Given the description of an element on the screen output the (x, y) to click on. 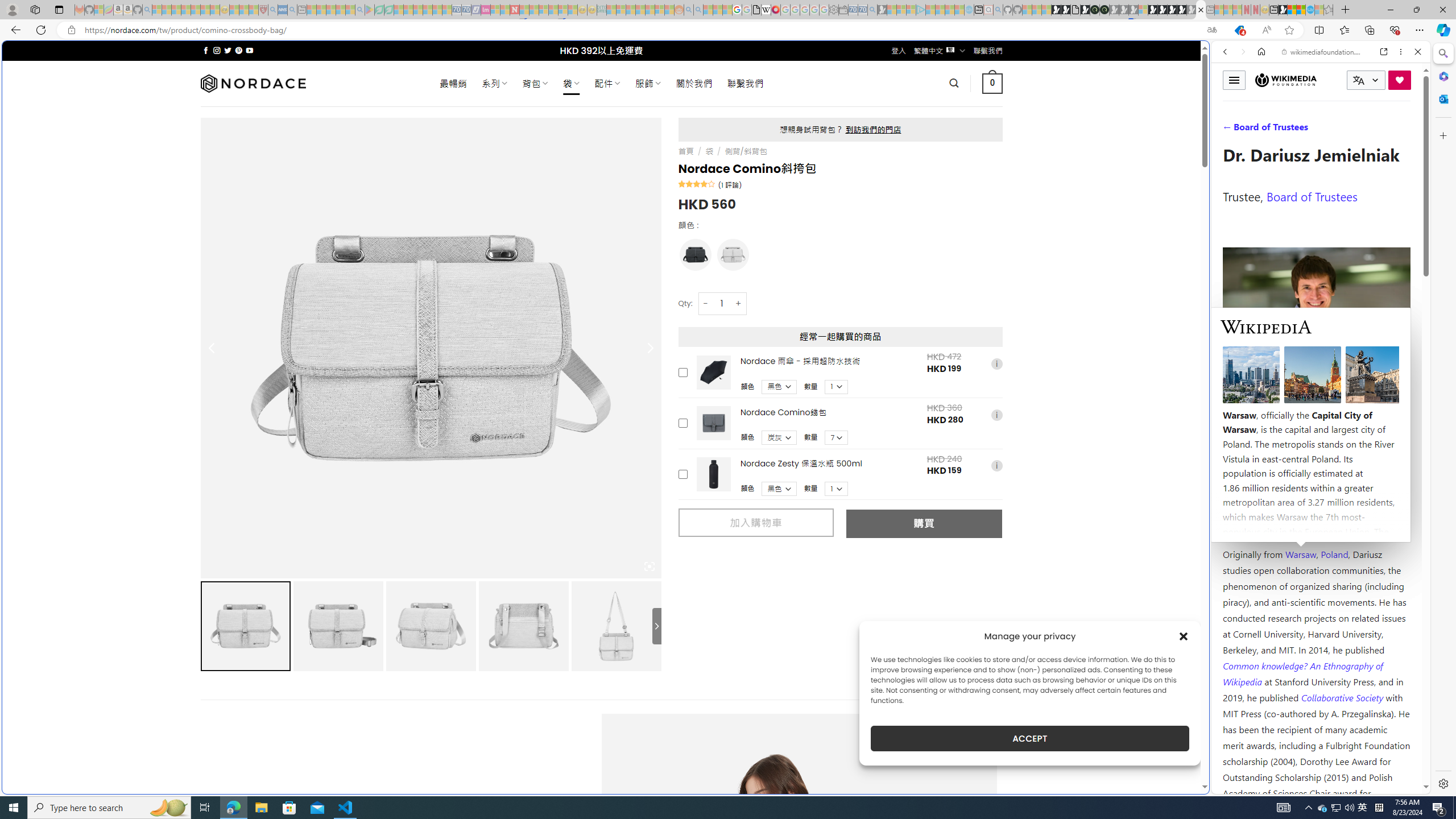
Wiktionary (1315, 380)
